Given the description of an element on the screen output the (x, y) to click on. 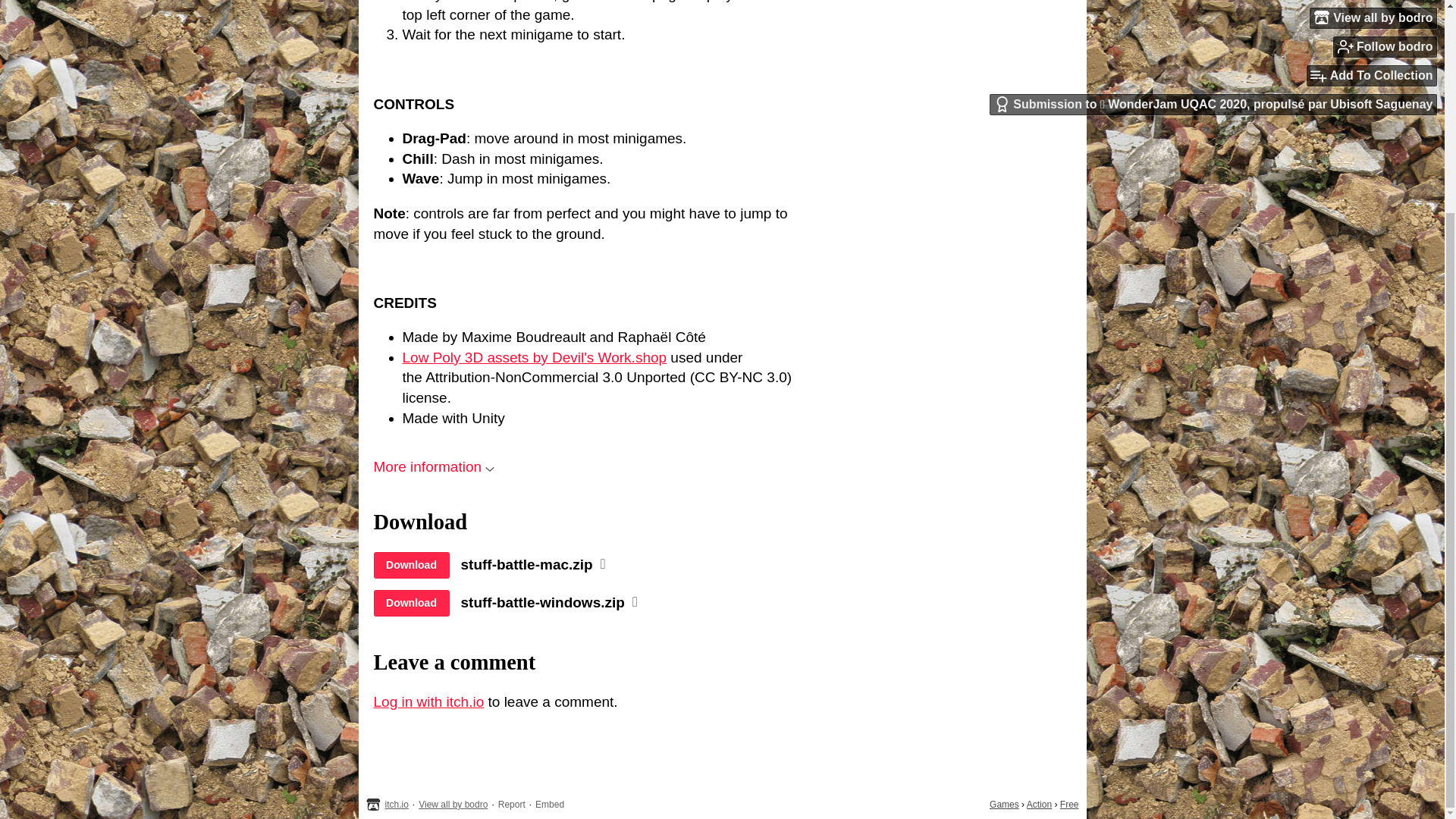
itch.io (397, 804)
Download (410, 565)
Download (410, 602)
stuff-battle-windows.zip (542, 602)
Log in with itch.io (427, 701)
View all by bodro (453, 804)
Games (1004, 804)
Free (1068, 804)
Embed (549, 804)
Report (511, 804)
